Given the description of an element on the screen output the (x, y) to click on. 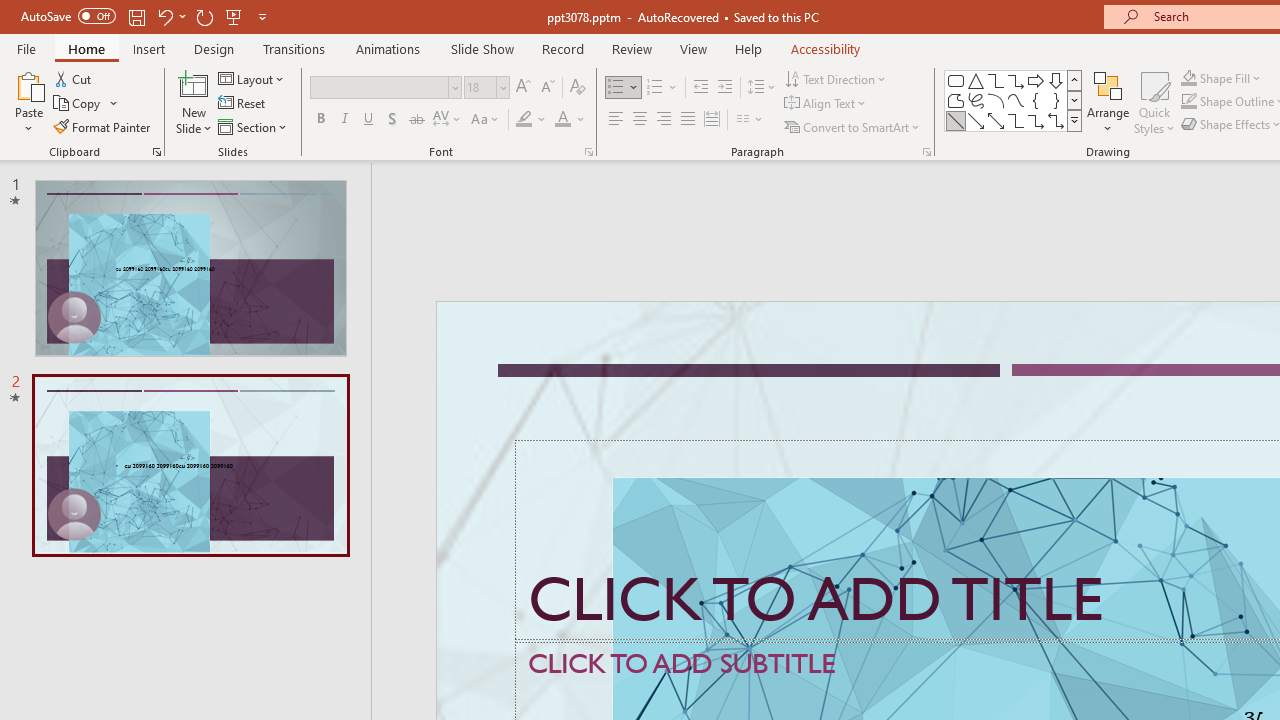
Connector: Elbow Double-Arrow (1055, 120)
